Given the description of an element on the screen output the (x, y) to click on. 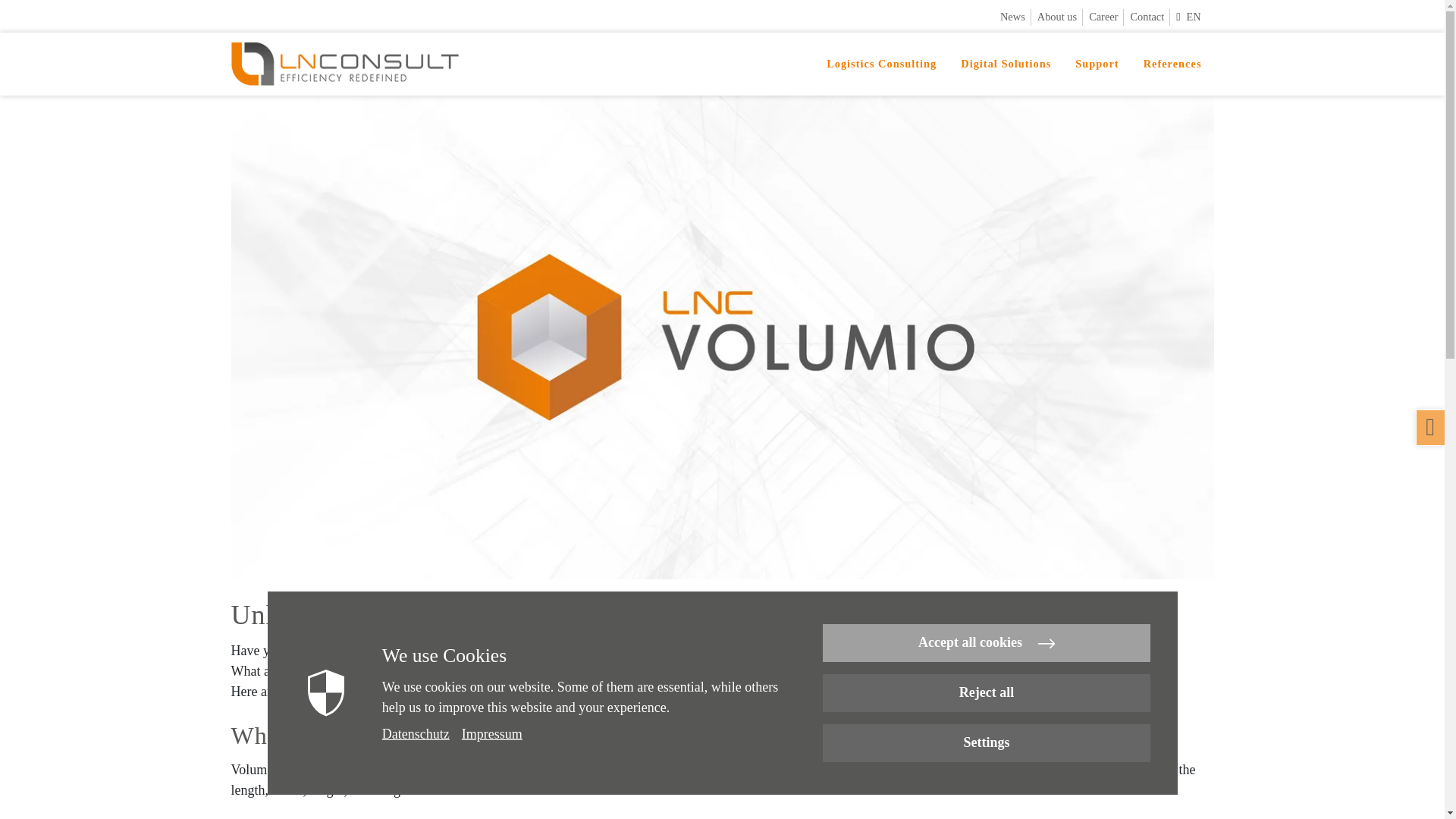
Career (1106, 17)
About us (1059, 17)
Support (1096, 64)
Logistics Consulting (881, 64)
News (1015, 17)
Contact (1149, 17)
References (1172, 64)
Digital Solutions (1006, 64)
